Given the description of an element on the screen output the (x, y) to click on. 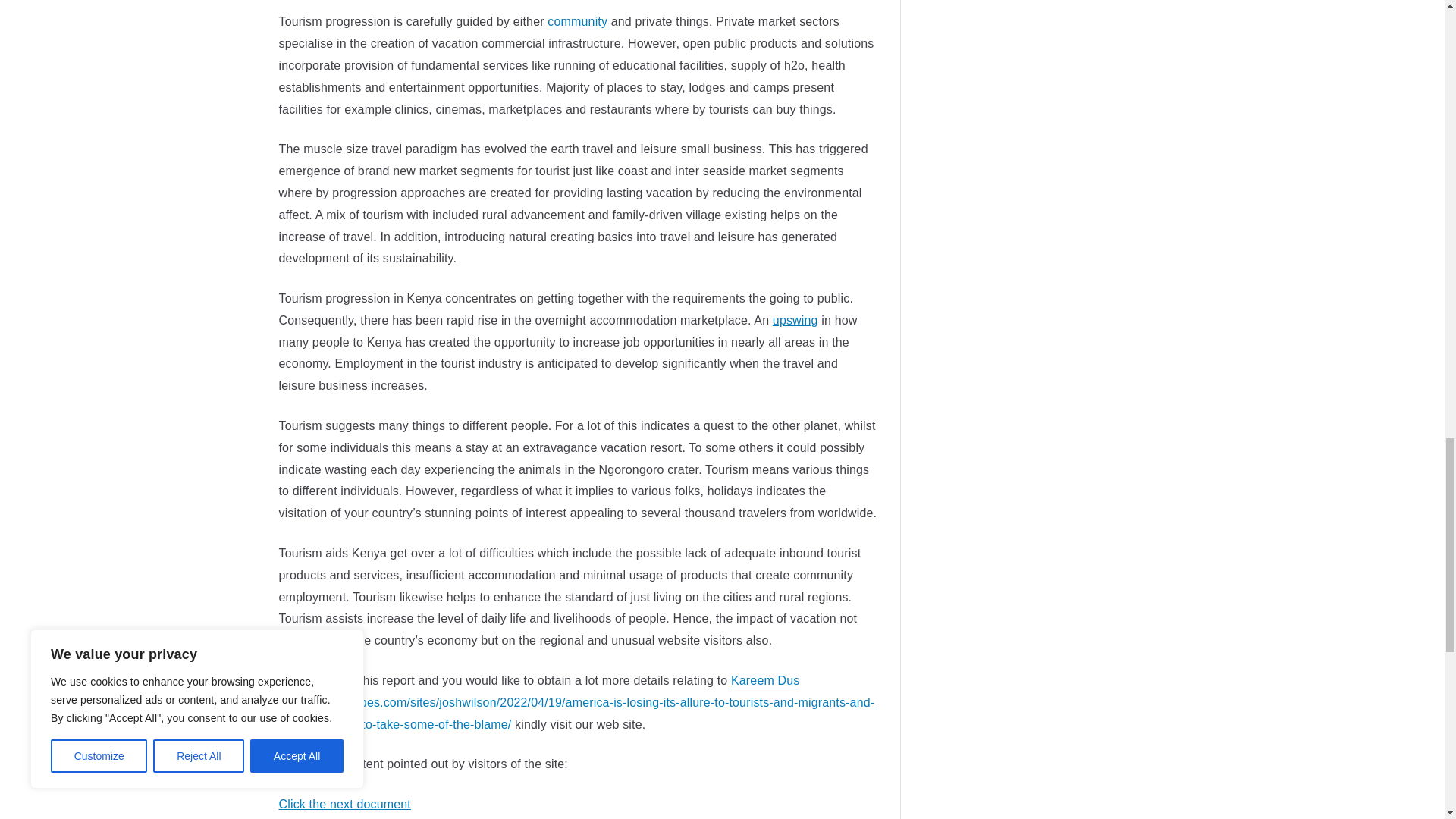
upswing (795, 319)
community (577, 21)
Click the next document (344, 803)
